Given the description of an element on the screen output the (x, y) to click on. 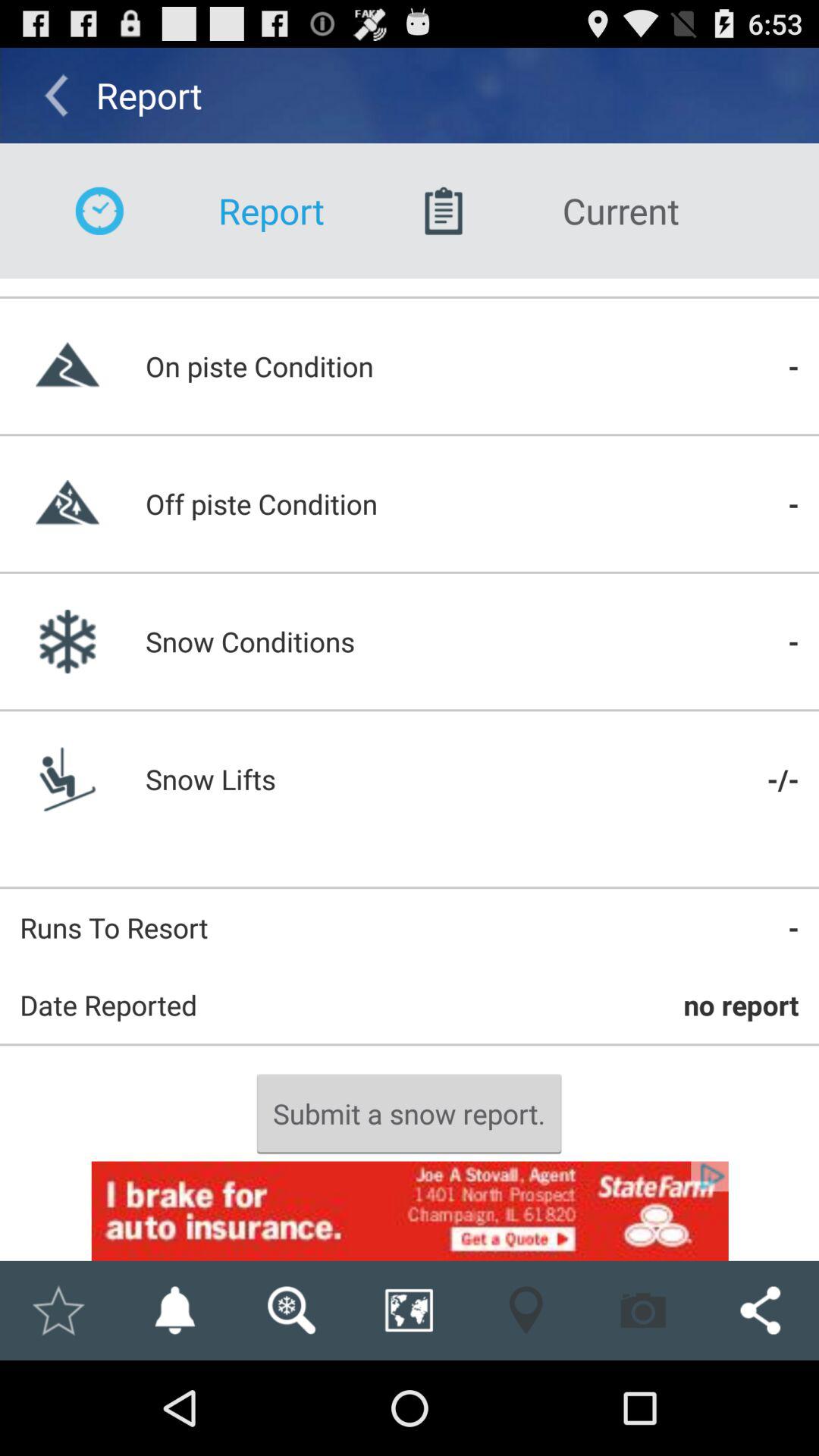
image view (291, 1310)
